Given the description of an element on the screen output the (x, y) to click on. 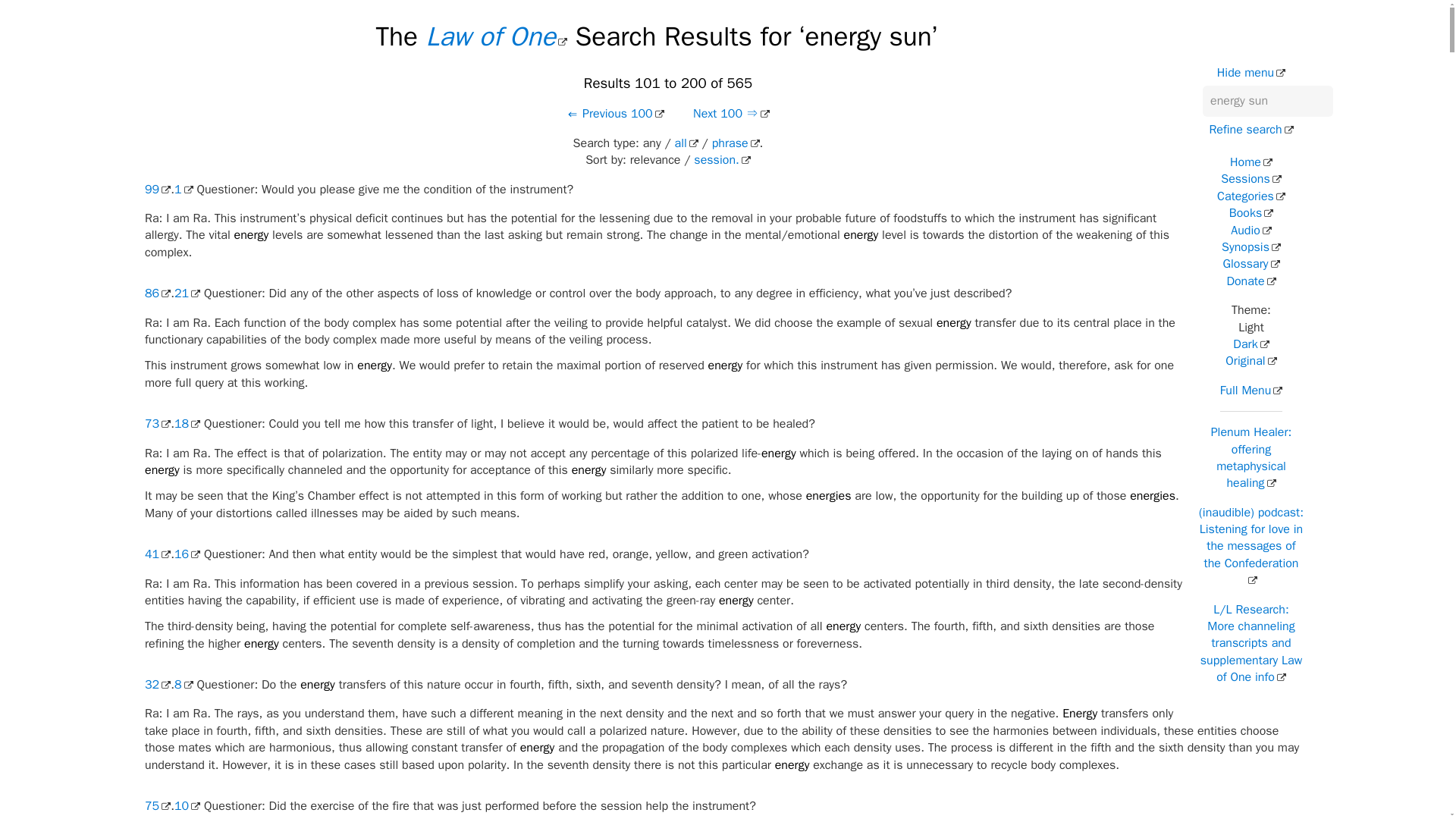
10 (187, 806)
all (686, 142)
75 (157, 806)
32 (157, 684)
8 (183, 684)
Law of One (496, 36)
18 (187, 423)
21 (187, 293)
99 (157, 189)
41 (157, 554)
73 (157, 423)
1 (183, 189)
session. (721, 159)
86 (157, 293)
16 (187, 554)
